Given the description of an element on the screen output the (x, y) to click on. 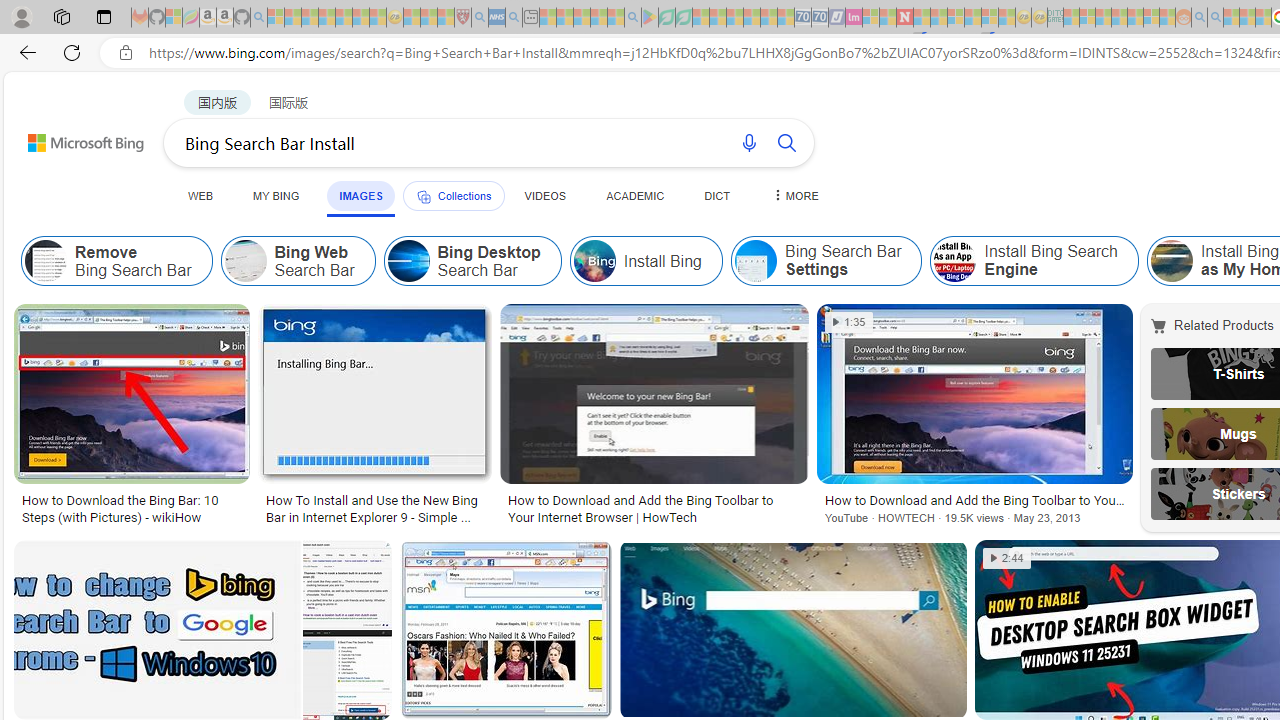
Expert Portfolios - Sleeping (1119, 17)
Class: b_pri_nav_svg (423, 196)
Bing Web Search Bar (245, 260)
Remove Bing Search Bar (45, 260)
WEB (201, 195)
1:35 (849, 322)
Latest Politics News & Archive | Newsweek.com - Sleeping (904, 17)
